Given the description of an element on the screen output the (x, y) to click on. 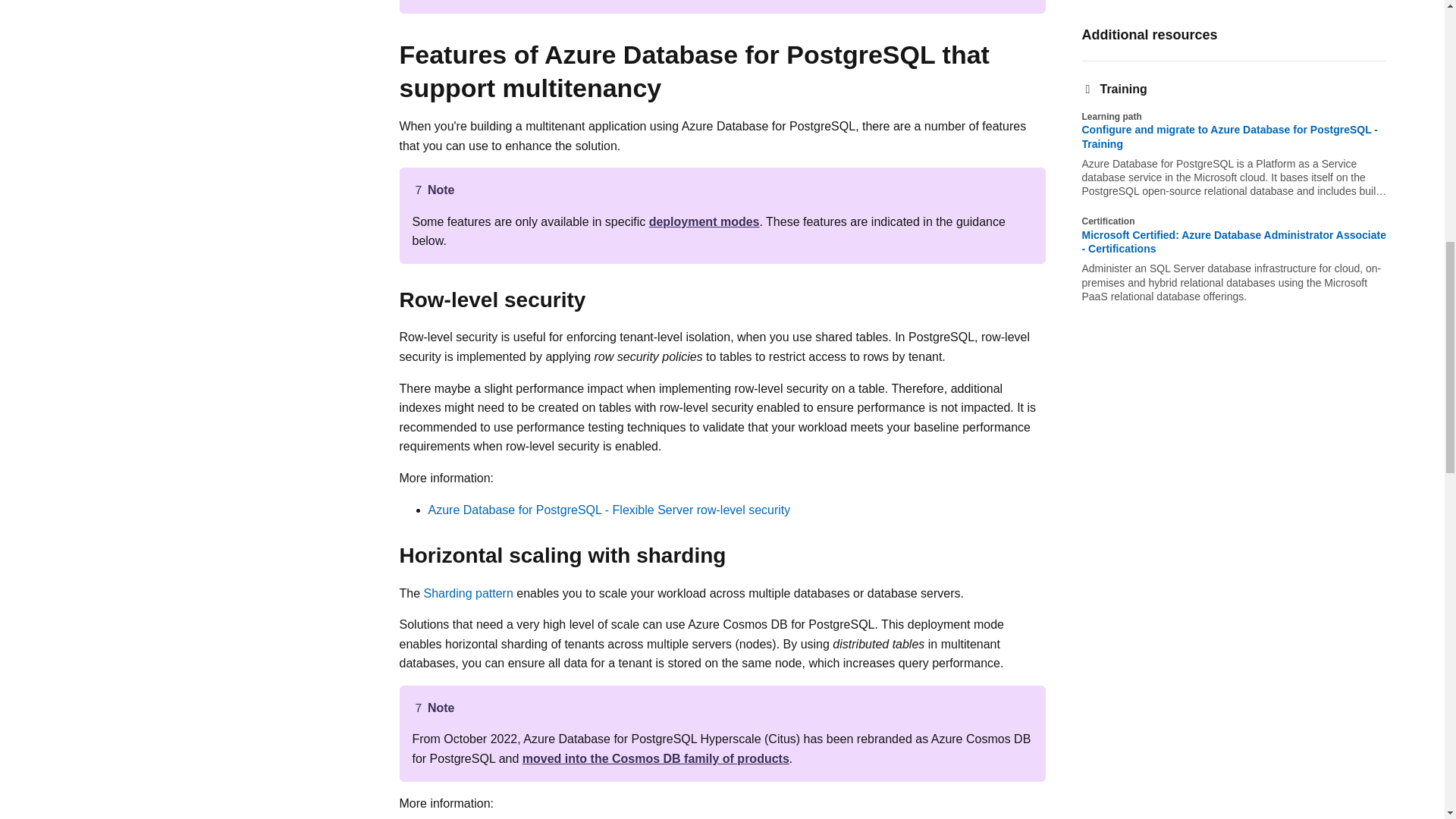
deployment modes (704, 221)
Sharding pattern (468, 593)
moved into the Cosmos DB family of products (655, 758)
